Given the description of an element on the screen output the (x, y) to click on. 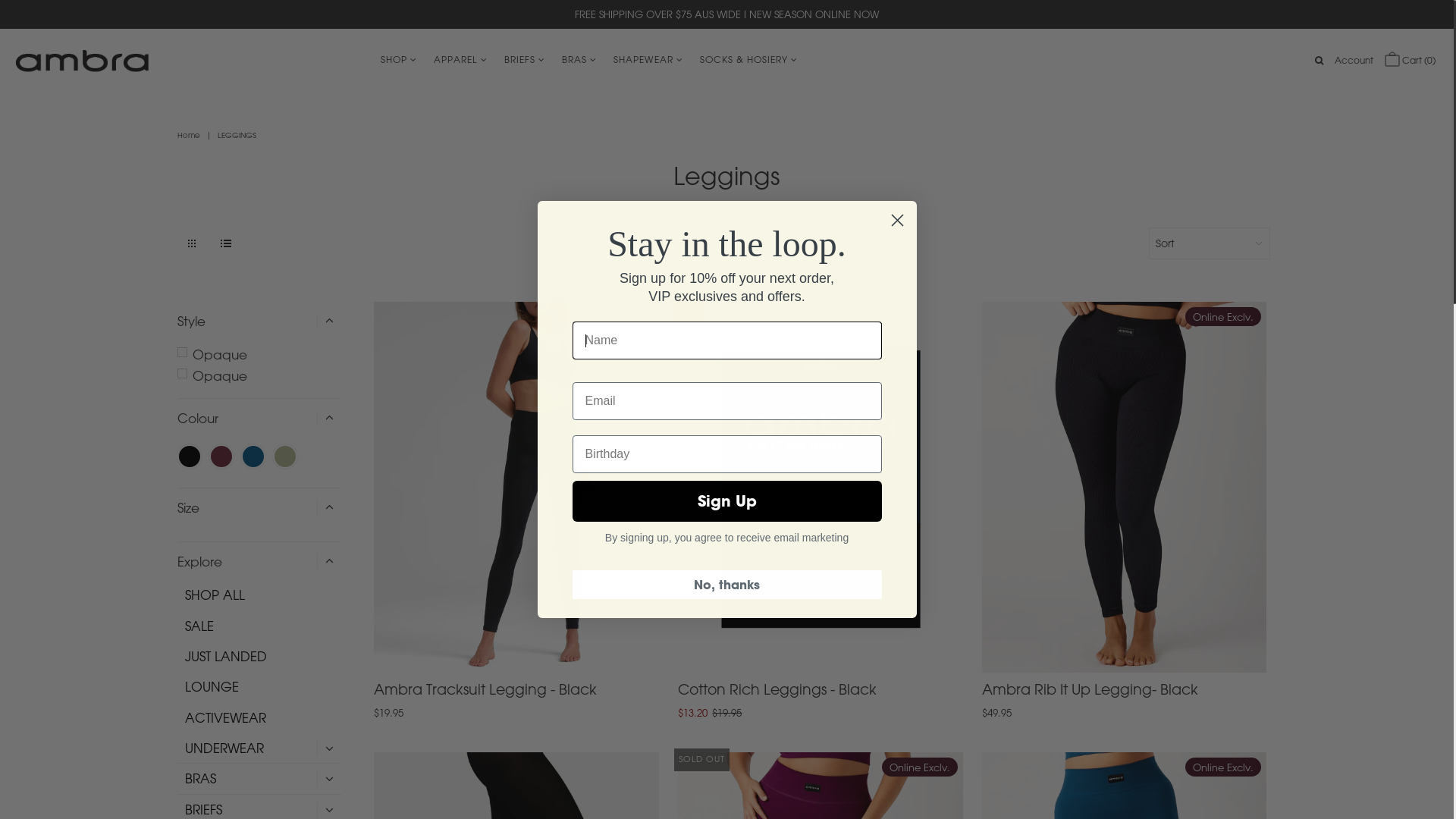
SALE Element type: text (263, 625)
SOCKS & HOSIERY Element type: text (743, 58)
Ambra Tracksuit Legging - Black Element type: text (484, 688)
UNDERWEAR Element type: text (224, 747)
Online Exclv. Element type: text (1124, 486)
BRAS Element type: text (574, 58)
SHOP ALL Element type: text (263, 594)
BRAS Element type: text (200, 778)
JUST LANDED Element type: text (263, 656)
Cotton Rich Leggings - Black Element type: text (776, 688)
Teal Element type: hover (253, 456)
BRIEFS Element type: text (519, 58)
Cotton Rich Leggings - Black Element type: hover (820, 486)
Sign Up Element type: text (726, 500)
SHOP Element type: text (392, 58)
Close dialog 1 Element type: text (897, 220)
LOUNGE Element type: text (263, 686)
Black Element type: hover (189, 456)
SHAPEWEAR Element type: text (643, 58)
Opaque Element type: text (259, 354)
APPAREL Element type: text (454, 58)
Size Element type: text (259, 506)
No, thanks Element type: text (726, 584)
Ambra Rib It Up Legging- Black Element type: text (1090, 688)
Ambra Tracksuit Legging - Black Element type: hover (515, 486)
Cart (0) Element type: text (1409, 60)
Submit Element type: text (36, 18)
BRIEFS Element type: text (203, 809)
Opaque Element type: text (259, 375)
Sangria Element type: hover (221, 456)
Green Element type: hover (285, 456)
ACTIVEWEAR Element type: text (263, 717)
Account Element type: text (1353, 60)
Colour Element type: text (259, 417)
Style Element type: text (259, 320)
Home Element type: text (190, 135)
Explore Element type: text (259, 560)
